Given the description of an element on the screen output the (x, y) to click on. 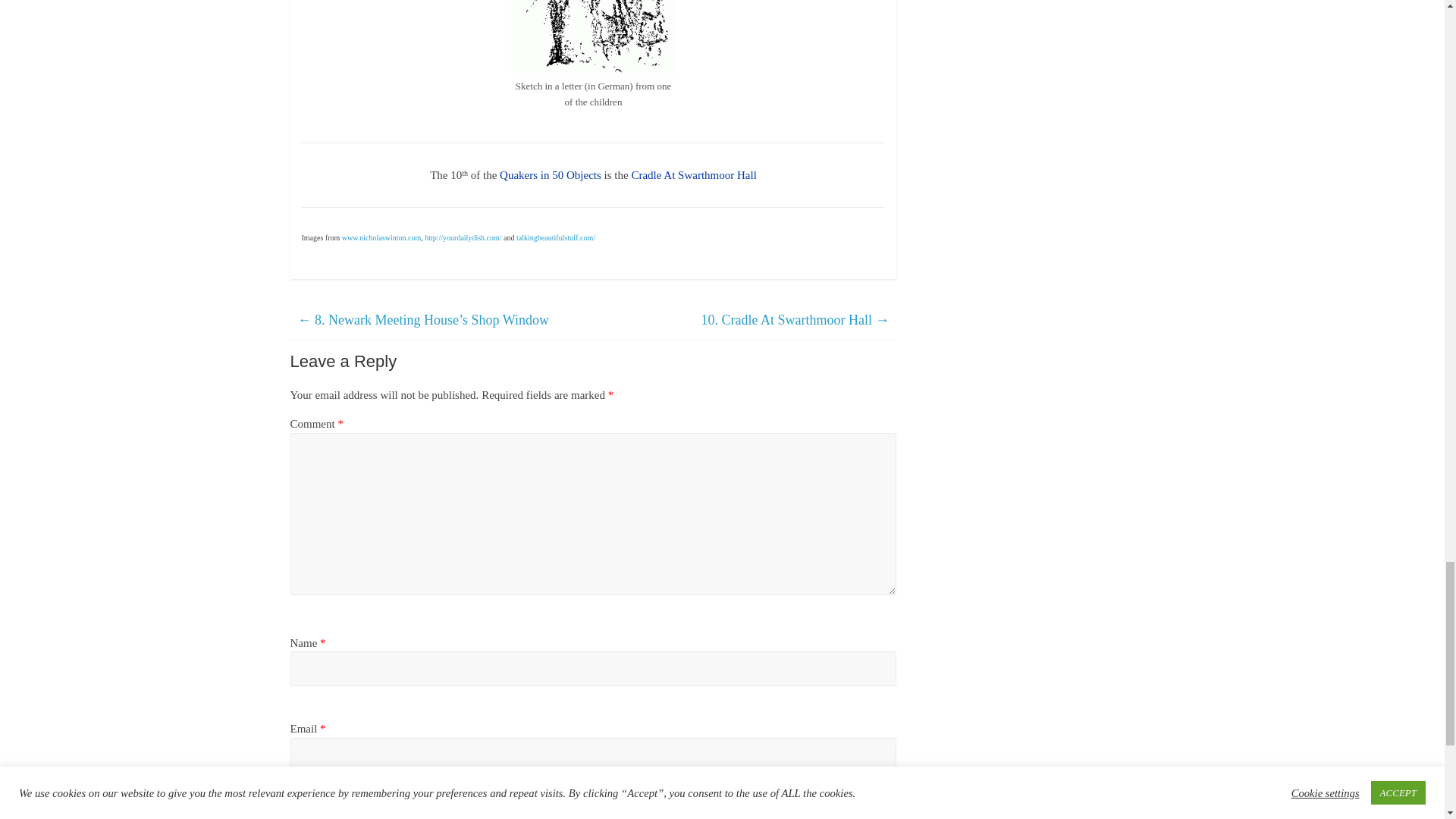
www.nicholaswinton.com (381, 237)
Quakers in 50 Objects (550, 174)
Cradle At Swarthmoor Hall (692, 174)
